Given the description of an element on the screen output the (x, y) to click on. 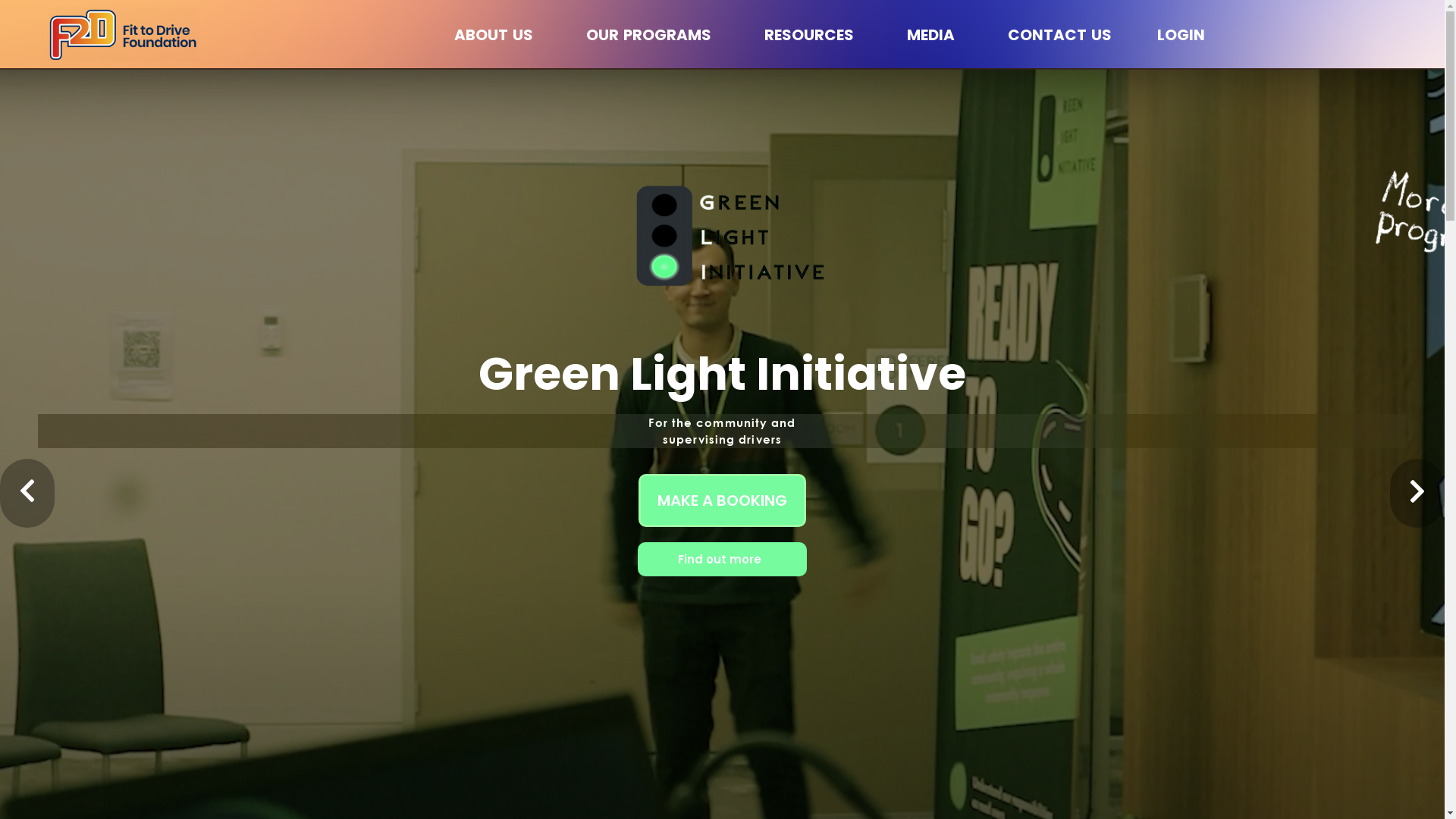
OUR PROGRAMS Element type: text (652, 34)
ABOUT US Element type: text (497, 34)
MAKE A BOOKING Element type: text (722, 500)
MEDIA Element type: text (934, 34)
RESOURCES Element type: text (812, 34)
LOGIN Element type: text (1180, 34)
CONTACT US Element type: text (1059, 34)
Find out more Element type: text (721, 559)
